Given the description of an element on the screen output the (x, y) to click on. 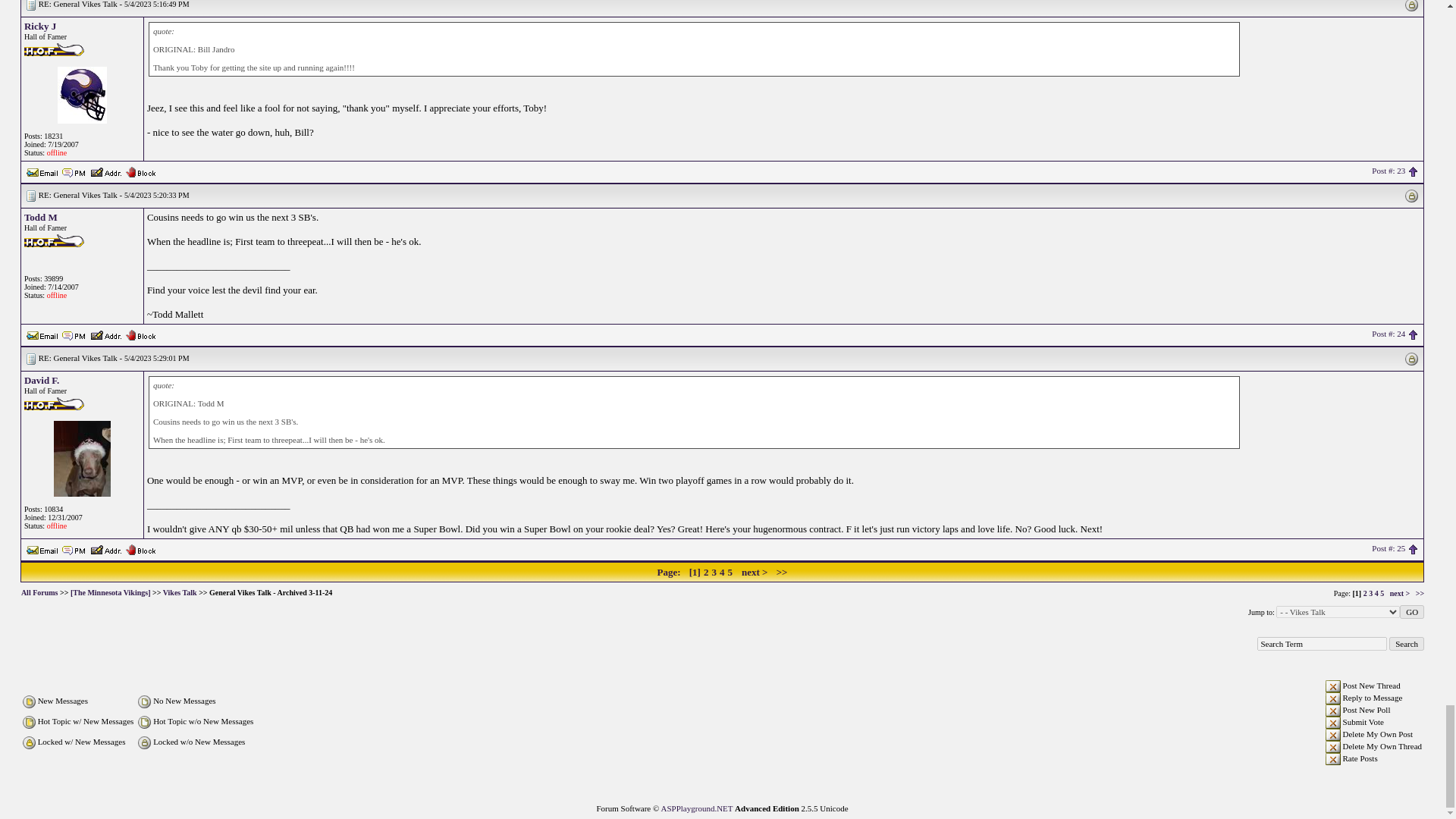
Search Term (1322, 643)
GO (1411, 612)
Search (1406, 643)
